Given the description of an element on the screen output the (x, y) to click on. 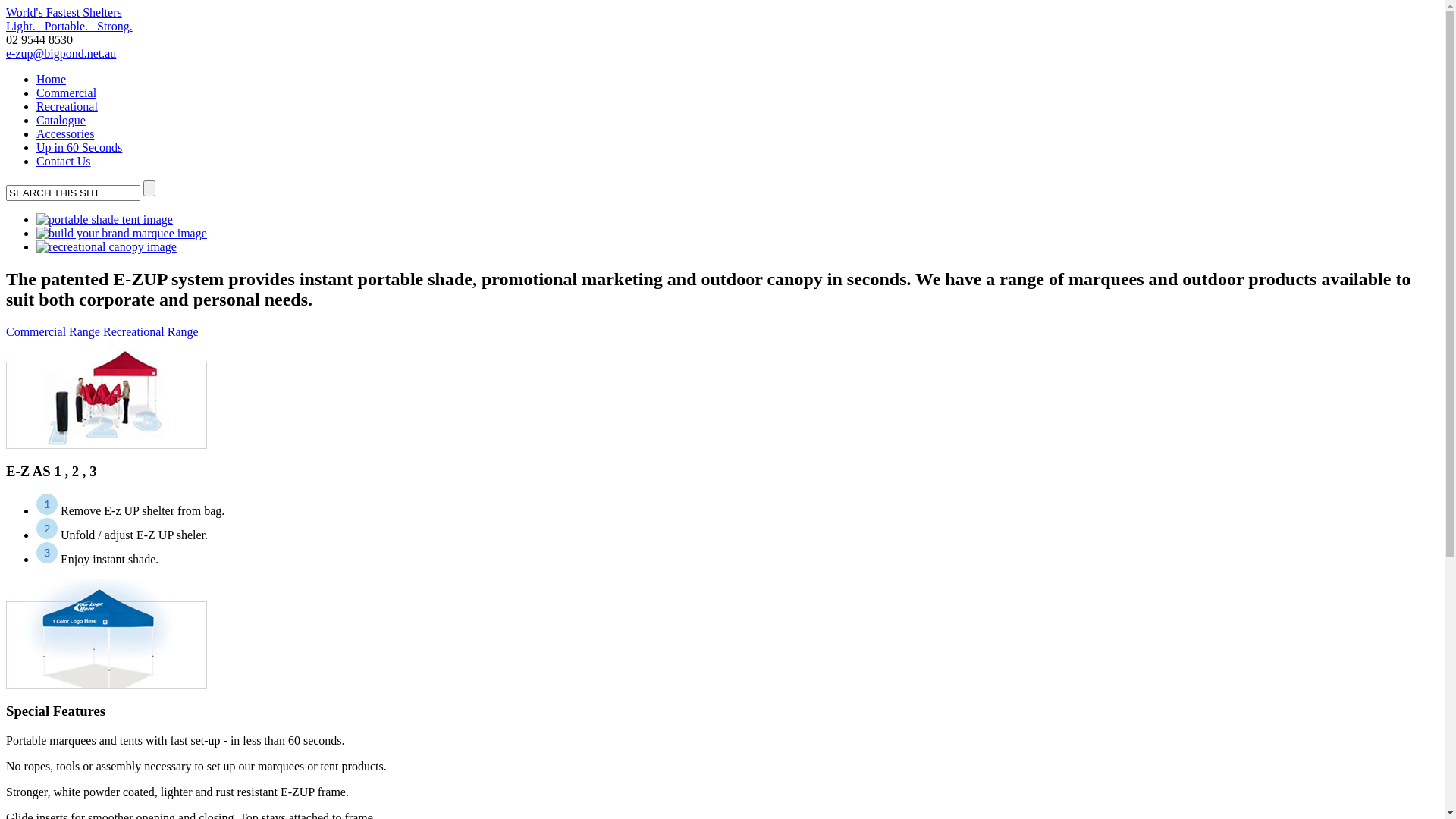
Commercial Element type: text (66, 92)
Catalogue Element type: text (60, 119)
World's Fastest Shelters
Light.   Portable.   Strong. Element type: text (722, 19)
Contact Us Element type: text (63, 160)
Recreational Element type: text (66, 106)
e-zup@bigpond.net.au Element type: text (61, 53)
Up in 60 Seconds Element type: text (79, 147)
SEARCH THIS SITE Element type: text (73, 192)
Recreational Range Element type: text (150, 331)
Commercial Range Element type: text (54, 331)
Home Element type: text (50, 78)
Accessories Element type: text (65, 133)
